Given the description of an element on the screen output the (x, y) to click on. 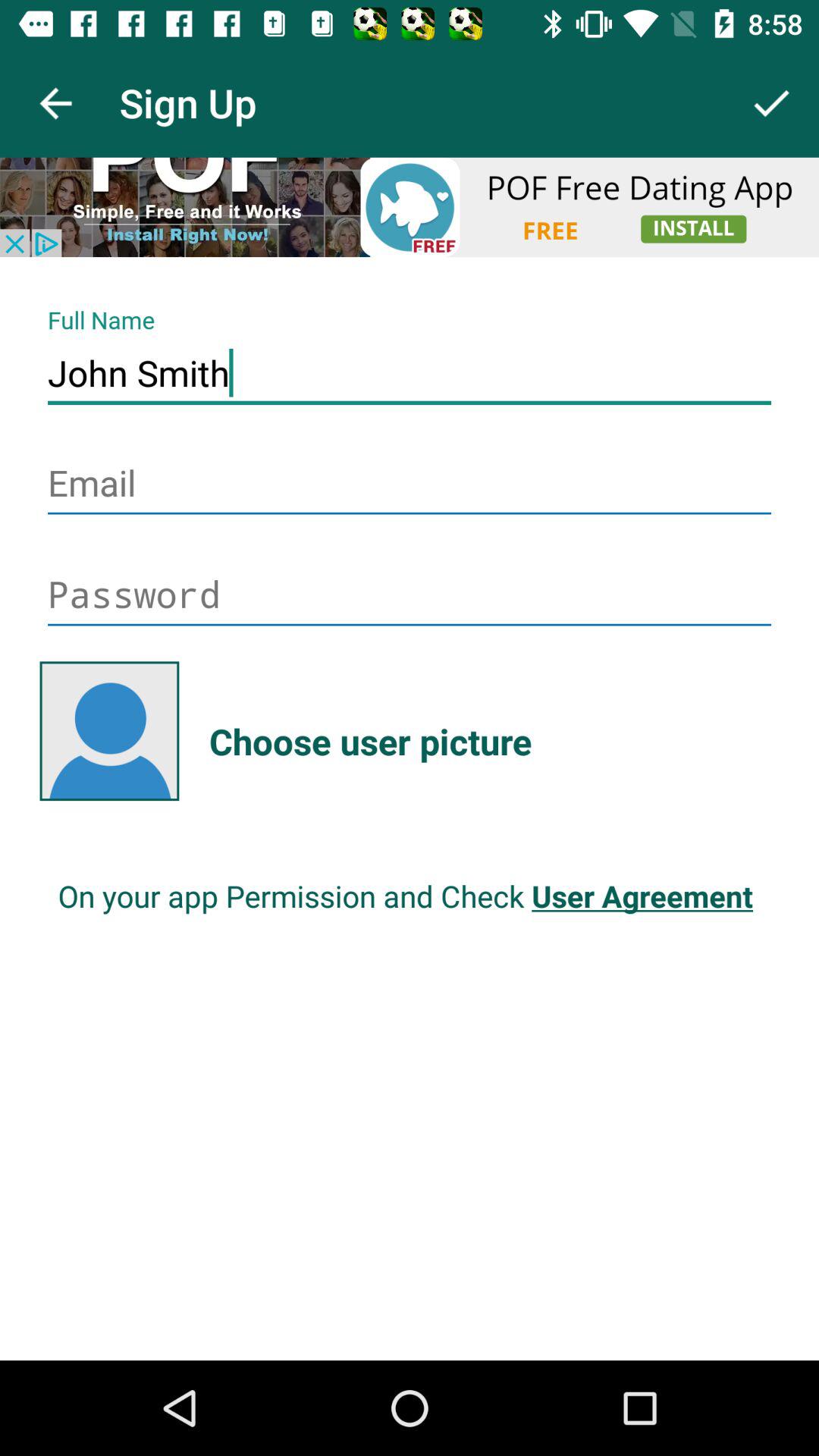
input information (409, 485)
